Given the description of an element on the screen output the (x, y) to click on. 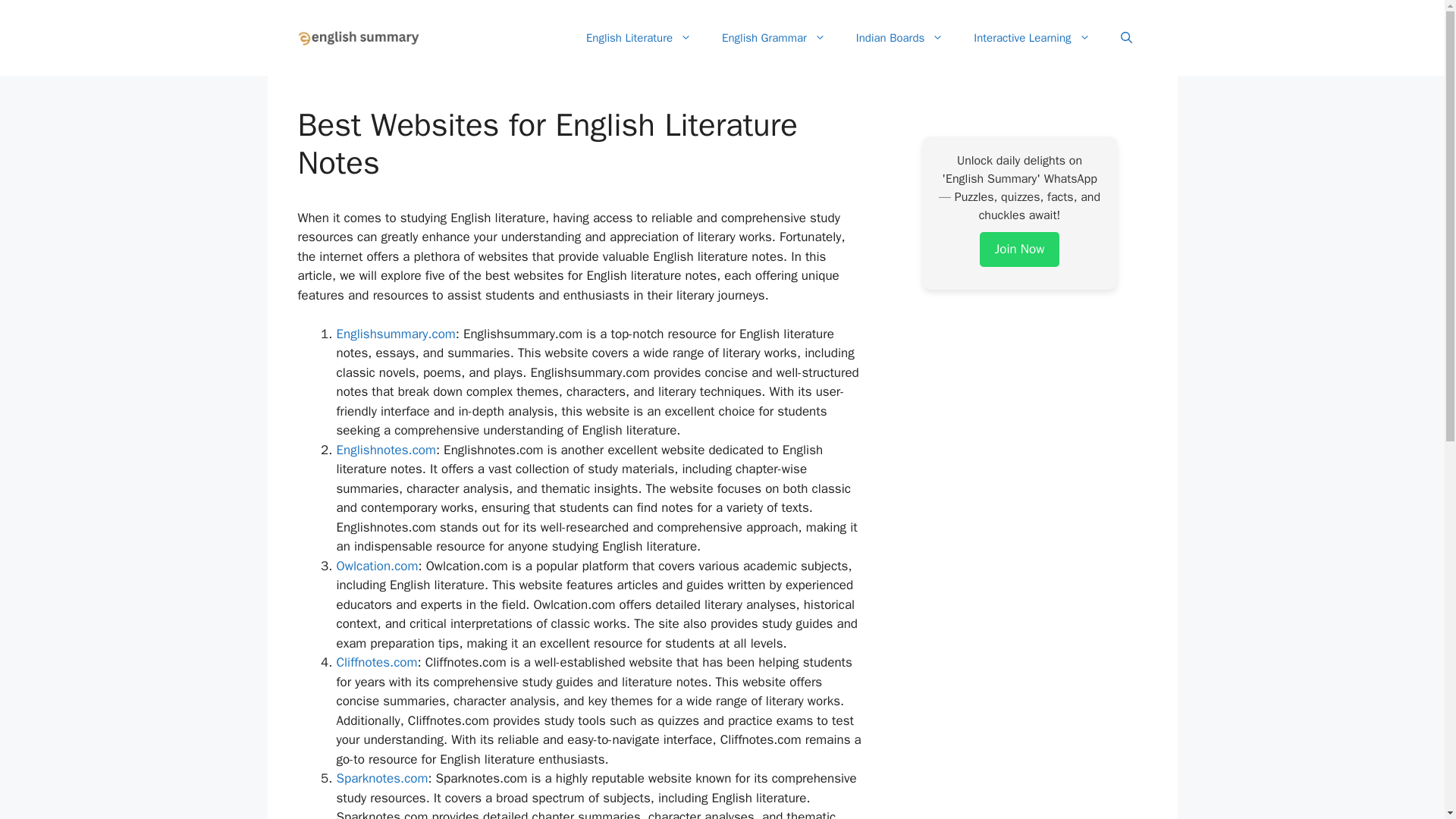
English Grammar (773, 37)
English Literature (638, 37)
Indian Boards (899, 37)
Interactive Learning (1031, 37)
